Given the description of an element on the screen output the (x, y) to click on. 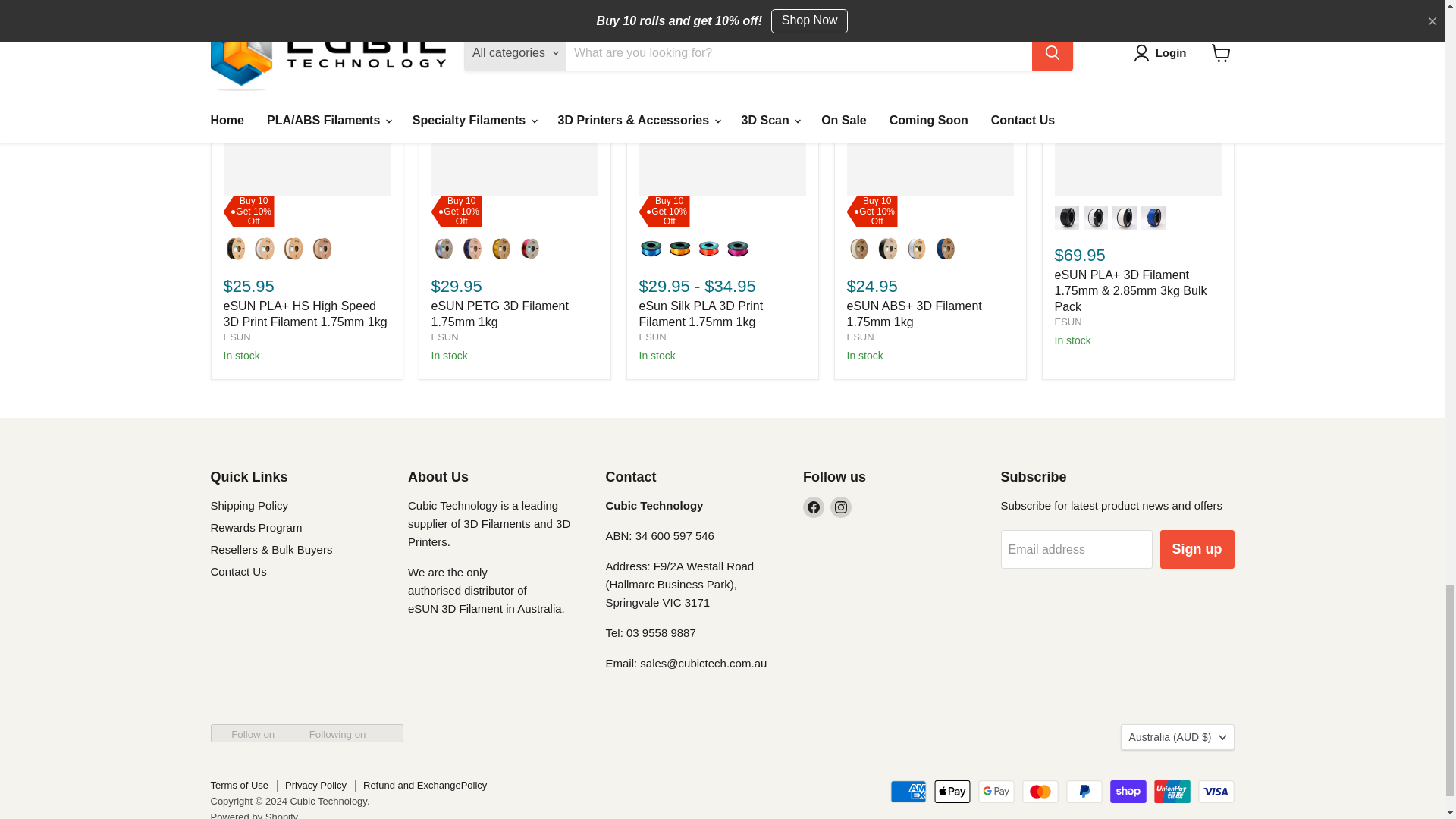
ESUN (236, 337)
ESUN (652, 337)
Facebook (813, 506)
ESUN (1067, 321)
ESUN (444, 337)
ESUN (859, 337)
Instagram (840, 506)
